Given the description of an element on the screen output the (x, y) to click on. 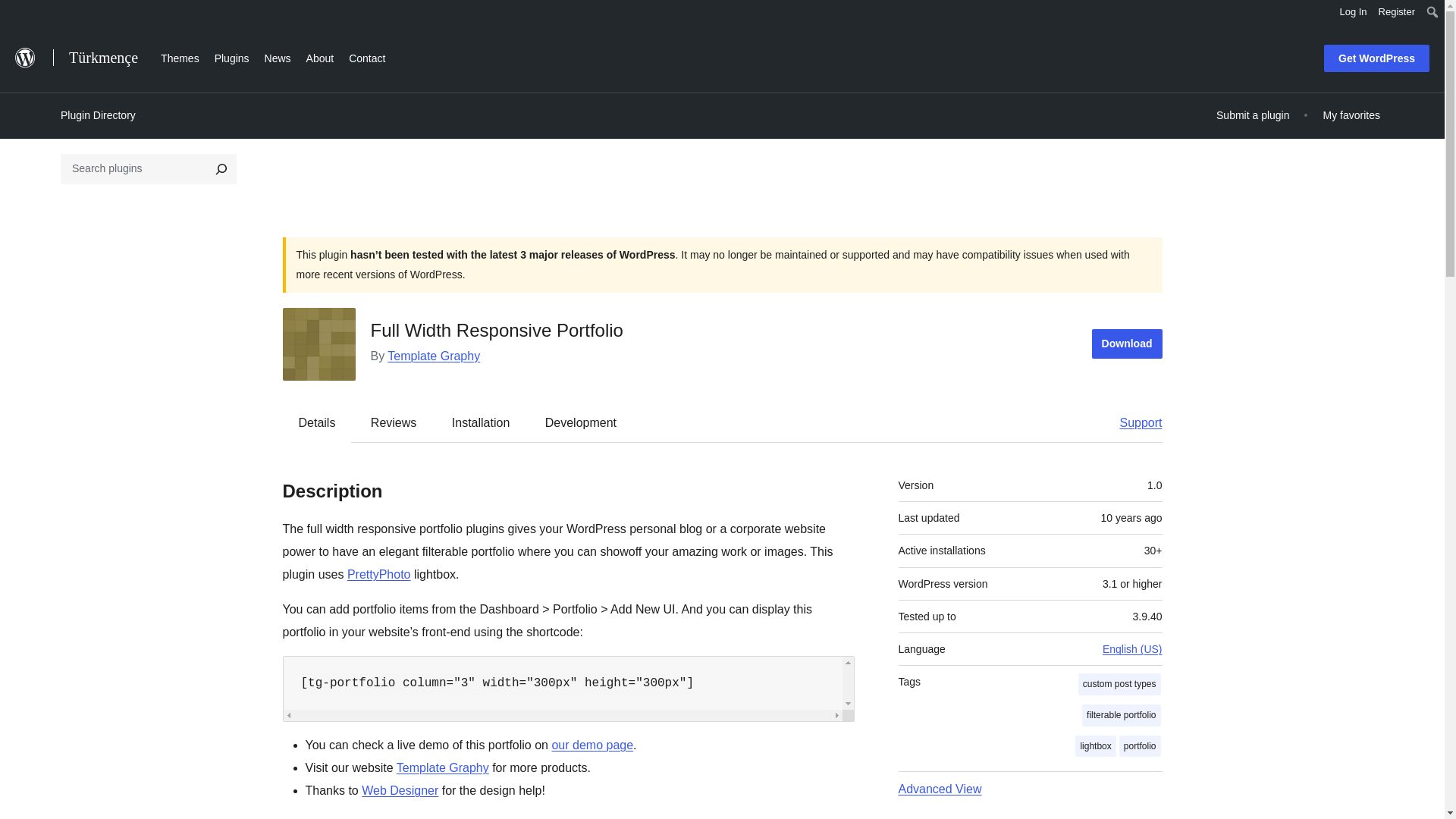
Reviews (392, 422)
Search (16, 13)
Register (1397, 12)
Template Graphy (442, 767)
PrettyPhoto (378, 574)
Installation (480, 422)
My favorites (1351, 115)
Download (1126, 344)
Log In (1353, 12)
Details (316, 422)
Plugin Directory (97, 115)
Development (580, 422)
Support (1132, 422)
our demo page (592, 744)
Submit a plugin (1253, 115)
